Given the description of an element on the screen output the (x, y) to click on. 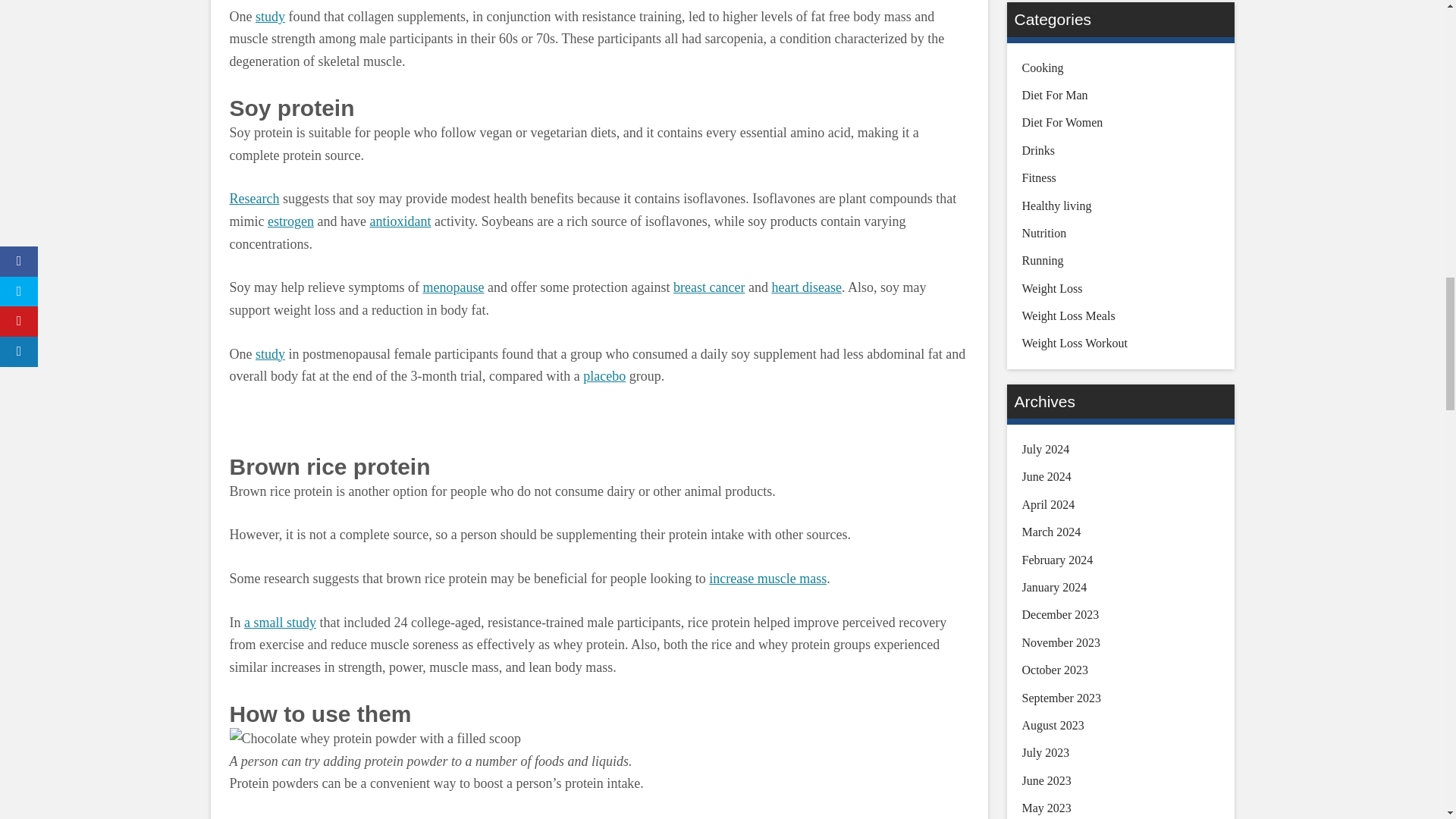
How can antioxidants benefit our health? (399, 221)
Everything you need to know about heart disease (806, 287)
Everything you need to know about estrogen (290, 221)
Everything you need to know about menopause (452, 287)
Placebos: The power of the placebo effect (604, 376)
What to know about breast cancer (708, 287)
